Given the description of an element on the screen output the (x, y) to click on. 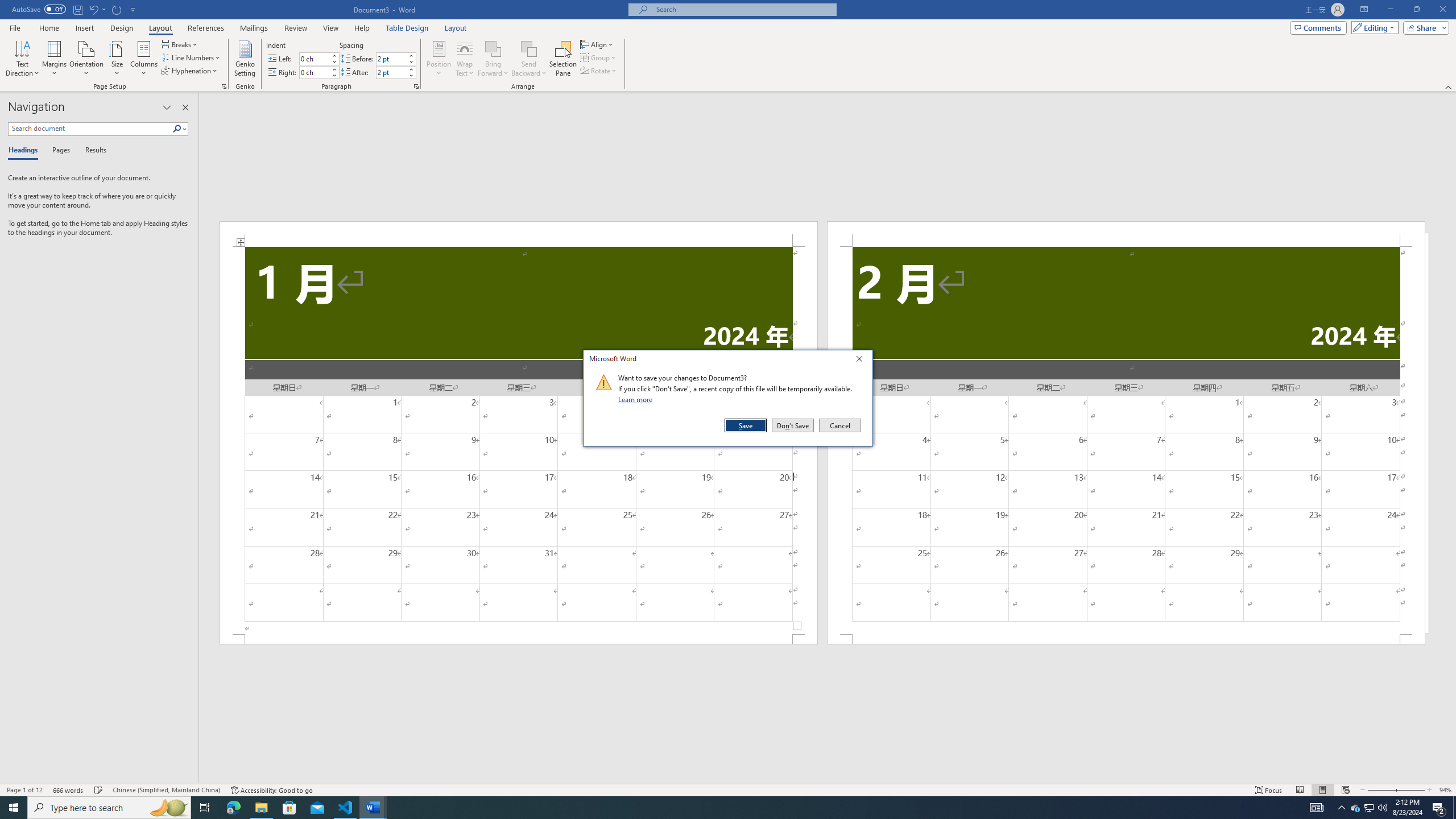
Don't Save (792, 425)
Rotate (599, 69)
Wrap Text (464, 58)
Bring Forward (492, 58)
Word - 2 running windows (373, 807)
